Given the description of an element on the screen output the (x, y) to click on. 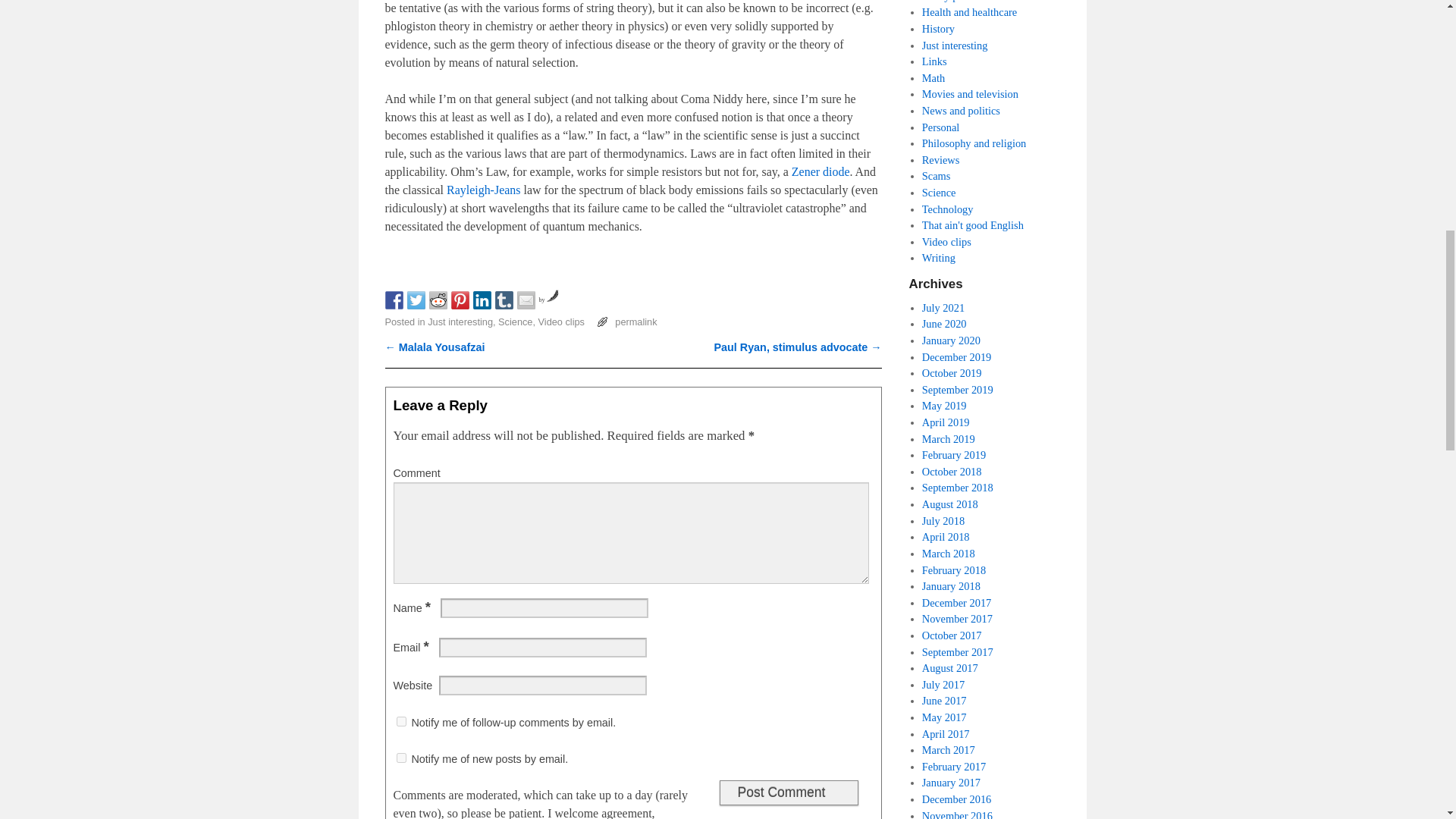
Pin it with Pinterest (458, 300)
Science (514, 321)
Just interesting (460, 321)
Share on Twitter (415, 300)
subscribe (401, 757)
by (547, 299)
Zener diode (821, 171)
Post Comment (788, 792)
permalink (635, 321)
Share on Reddit (437, 300)
